Given the description of an element on the screen output the (x, y) to click on. 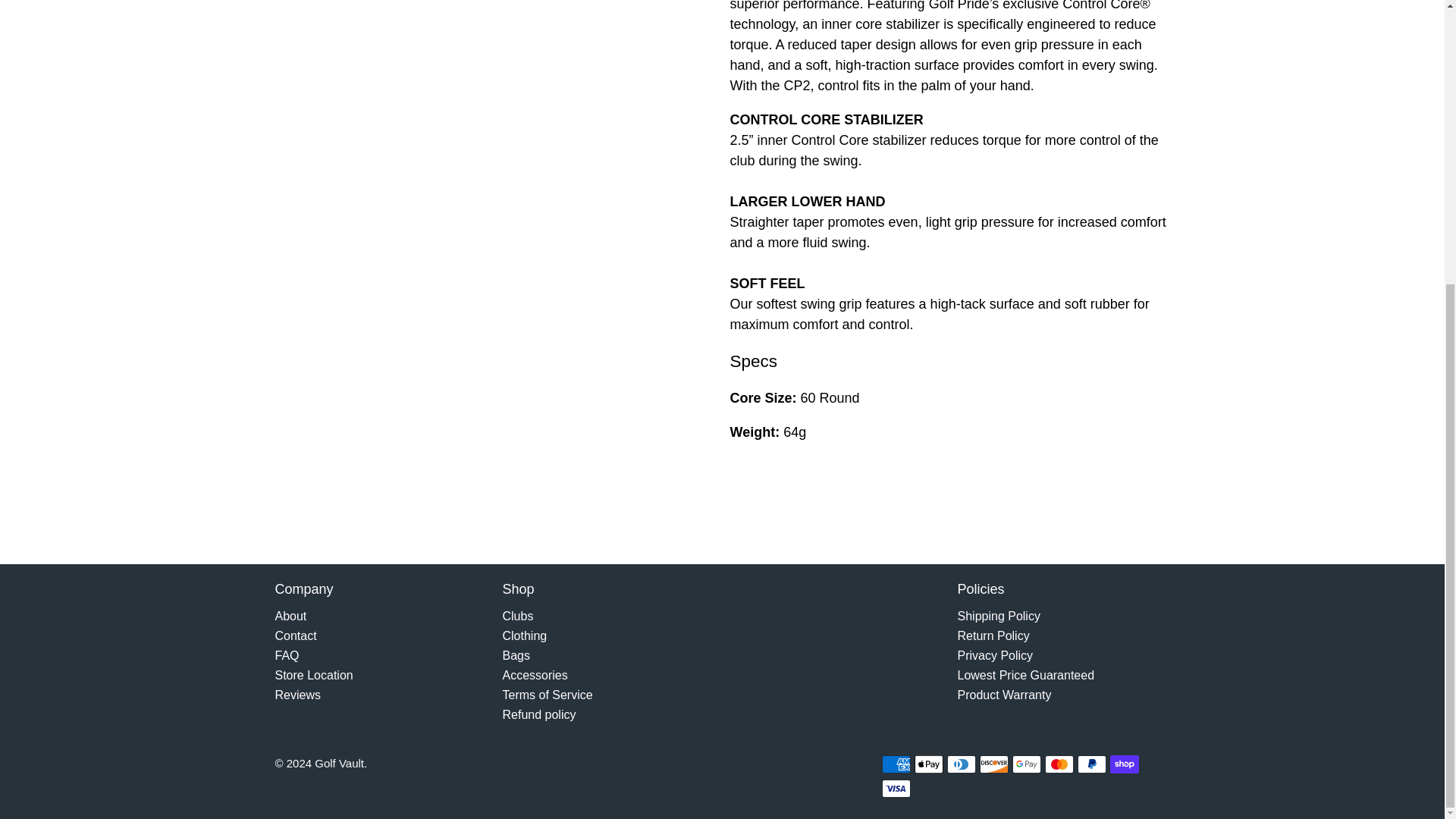
Mastercard (1059, 764)
Apple Pay (928, 764)
PayPal (1091, 764)
Diners Club (961, 764)
Discover (994, 764)
American Express (895, 764)
Visa (895, 788)
Shop Pay (1123, 764)
Google Pay (1026, 764)
Golf Vault (793, 601)
